Given the description of an element on the screen output the (x, y) to click on. 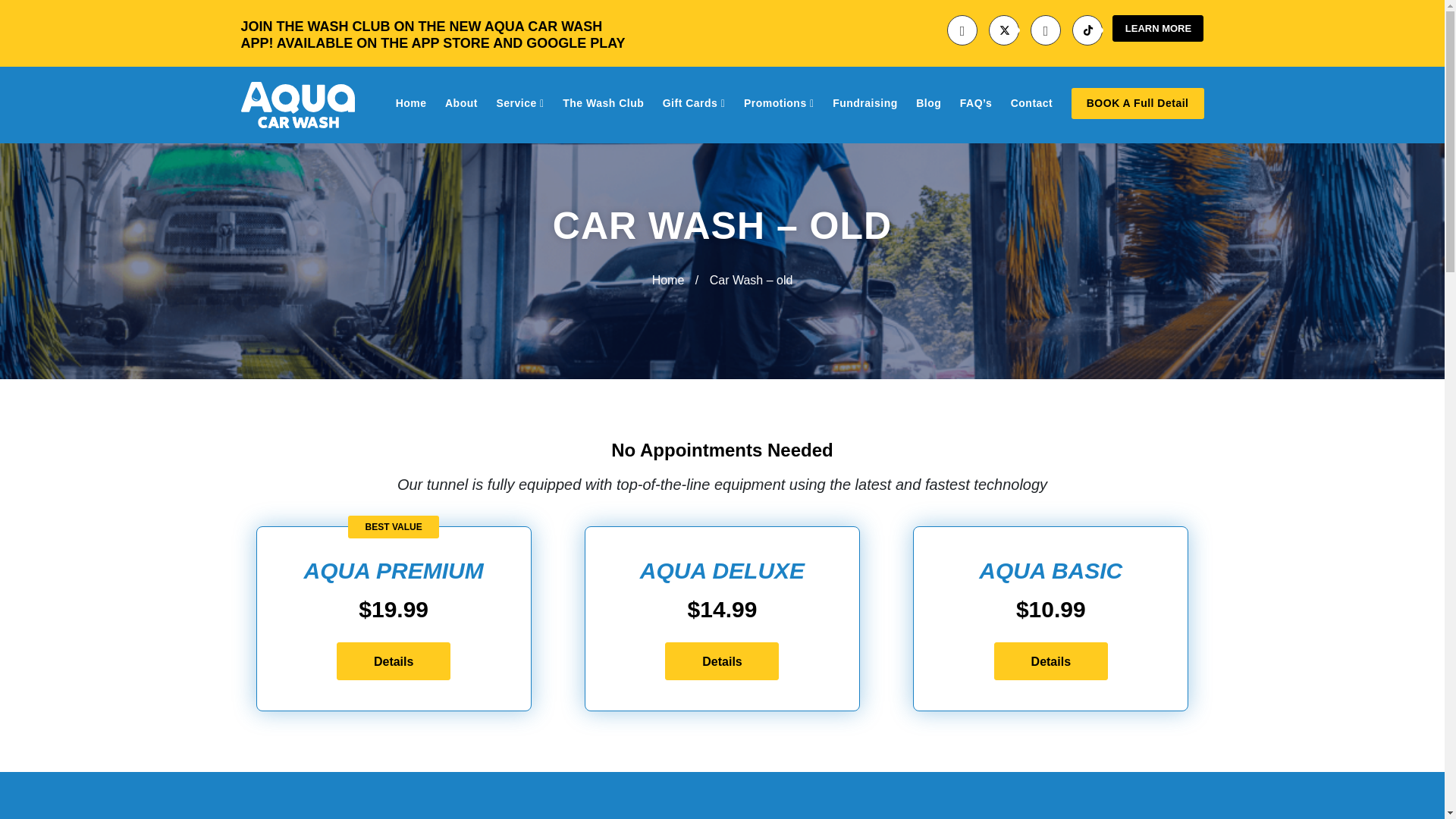
Details (721, 661)
Fundraising (865, 103)
LEARN MORE (1158, 28)
About (461, 103)
BEST VALUE (393, 526)
Details (1051, 661)
Promotions (778, 103)
Service (519, 103)
Home (411, 103)
The Wash Club (602, 103)
Blog (927, 103)
BOOK A Full Detail (1137, 102)
Gift Cards (693, 103)
Home (669, 280)
Details (392, 661)
